Given the description of an element on the screen output the (x, y) to click on. 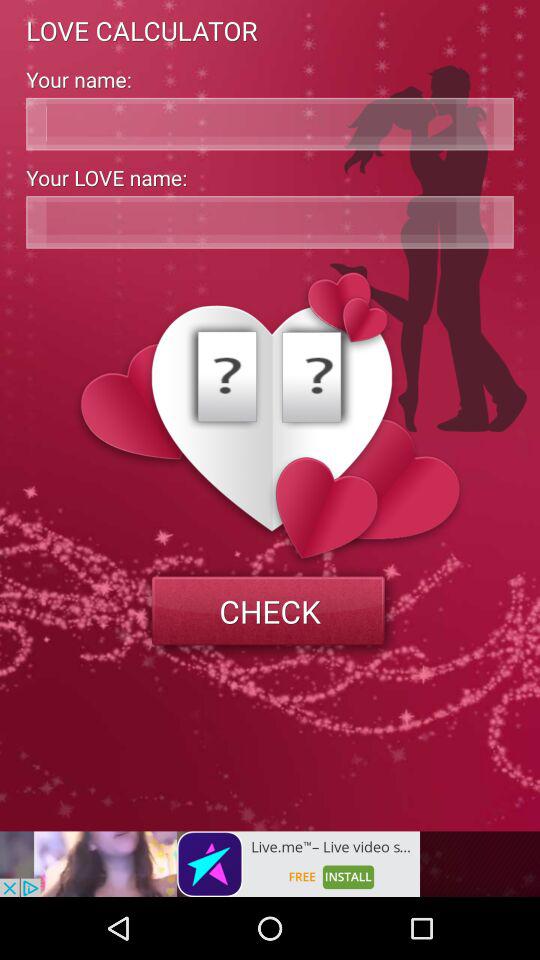
address page (269, 222)
